Given the description of an element on the screen output the (x, y) to click on. 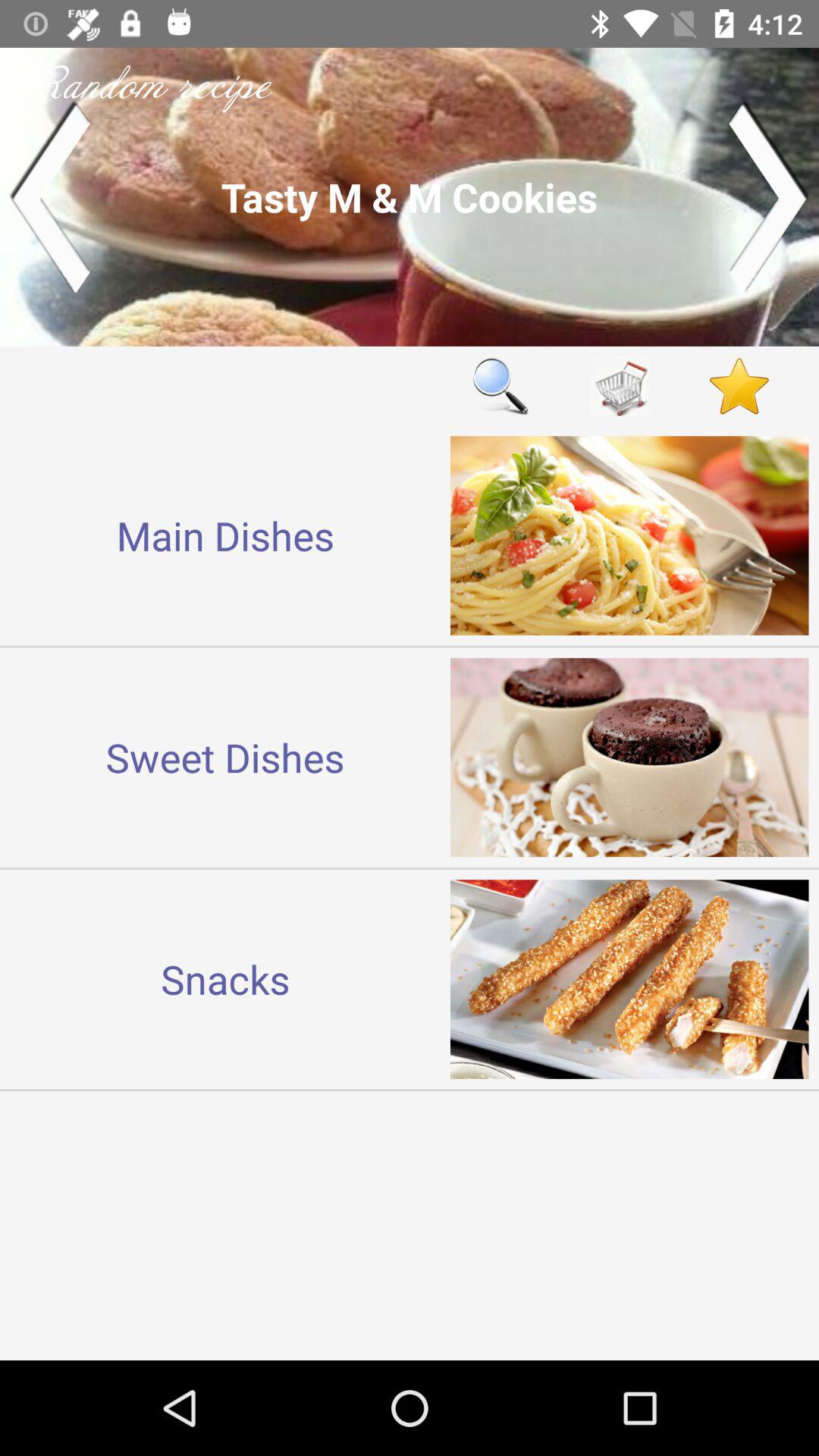
tap the snacks (225, 978)
